Given the description of an element on the screen output the (x, y) to click on. 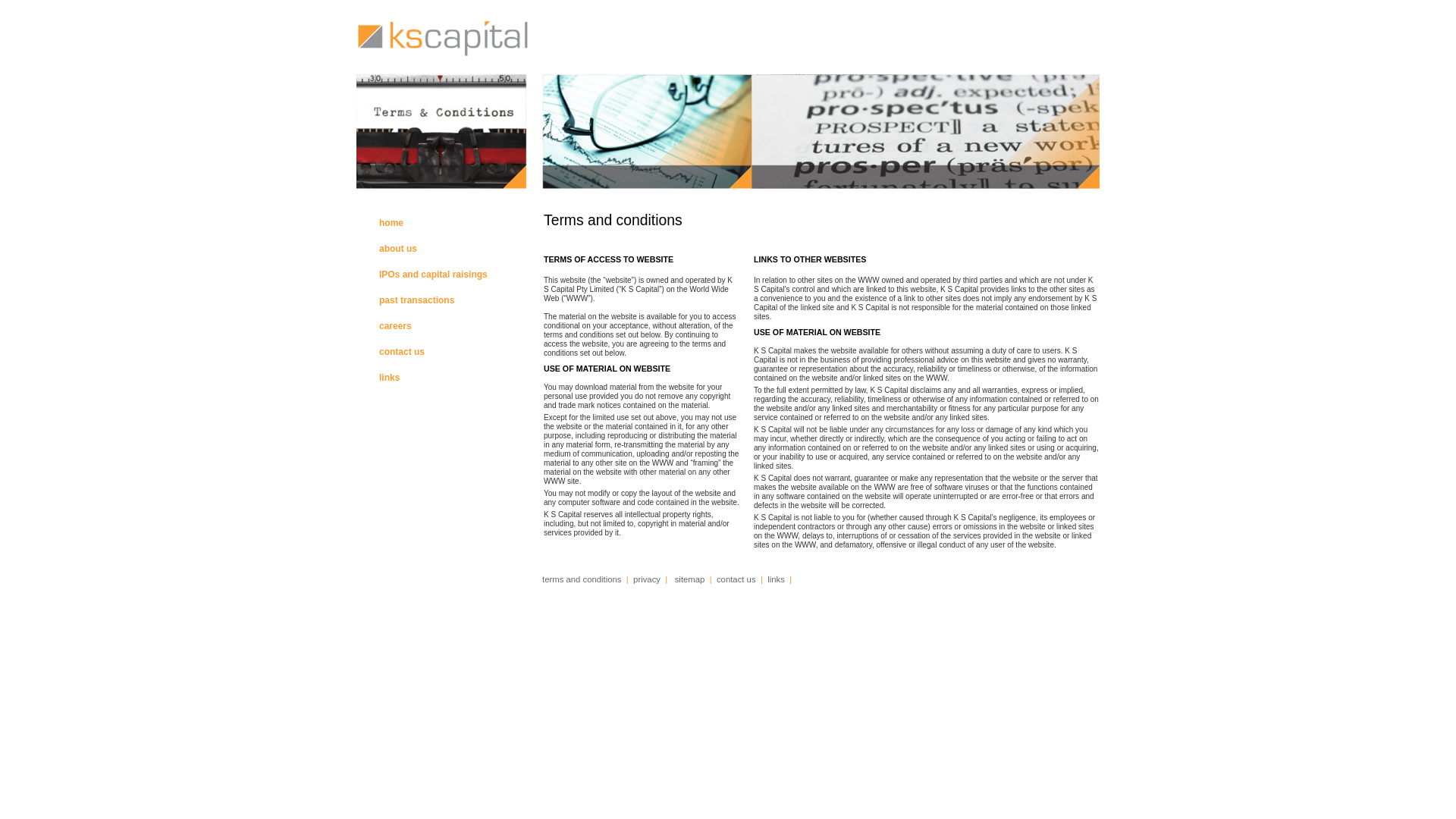
home Element type: text (391, 222)
links Element type: text (775, 578)
contact us Element type: text (736, 578)
IPOs and capital raisings Element type: text (433, 274)
sitemap Element type: text (689, 578)
past transactions Element type: text (416, 299)
careers Element type: text (395, 325)
links Element type: text (389, 377)
about us Element type: text (398, 248)
privacy Element type: text (646, 578)
terms and conditions Element type: text (583, 578)
contact us Element type: text (401, 351)
